Given the description of an element on the screen output the (x, y) to click on. 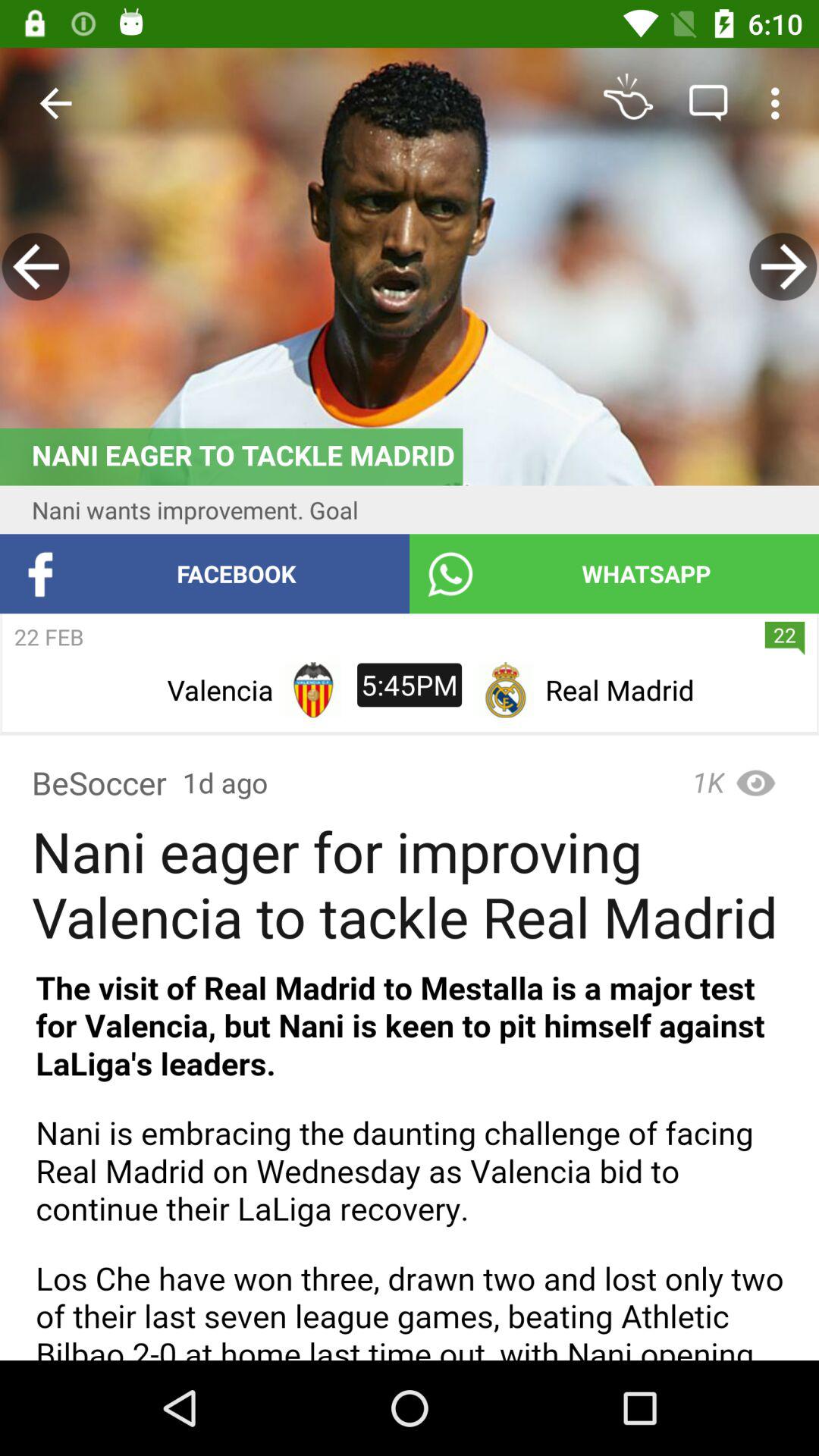
click on text (409, 1156)
